Given the description of an element on the screen output the (x, y) to click on. 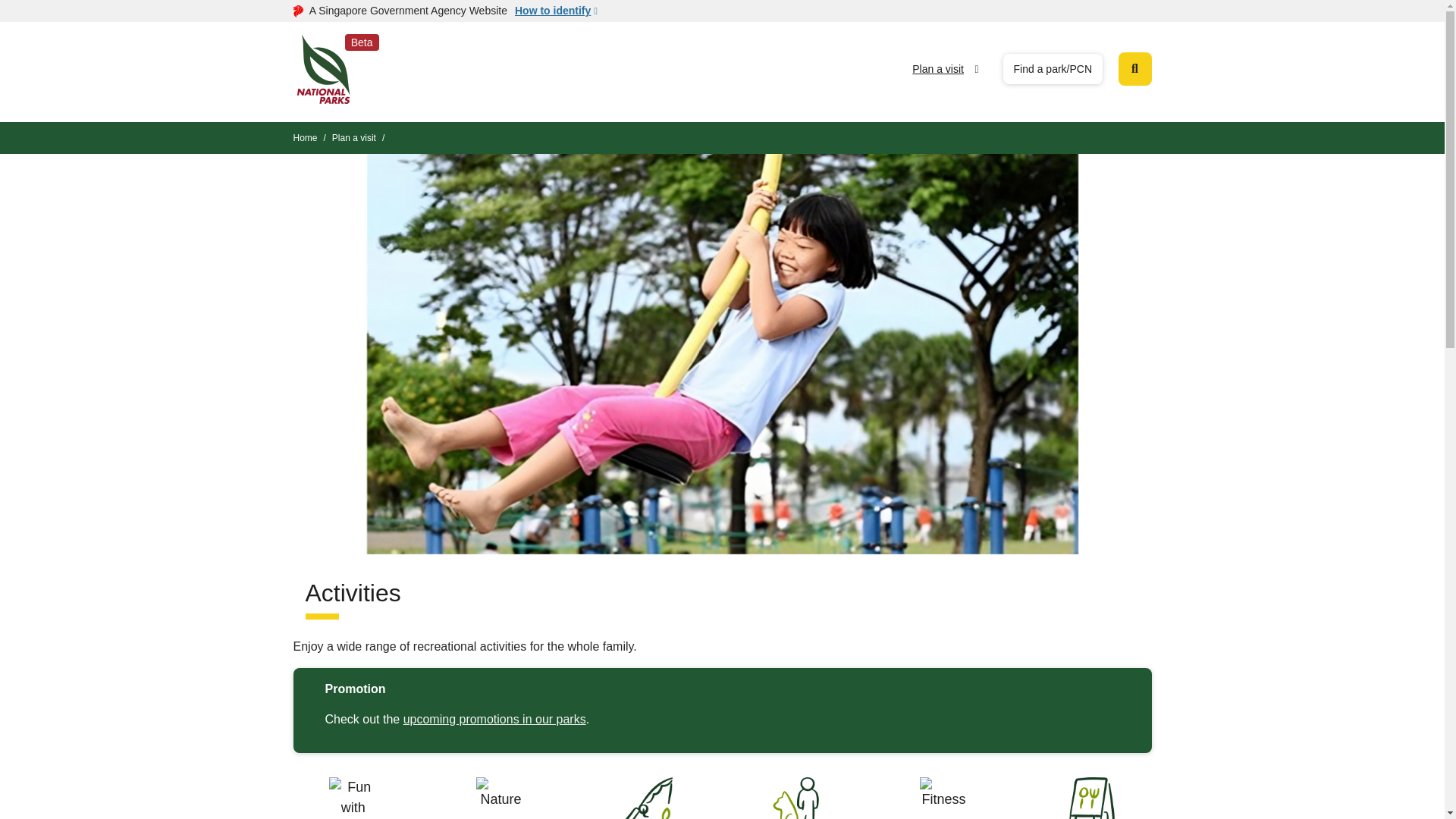
Beta (322, 67)
Plan a visit (937, 68)
